Given the description of an element on the screen output the (x, y) to click on. 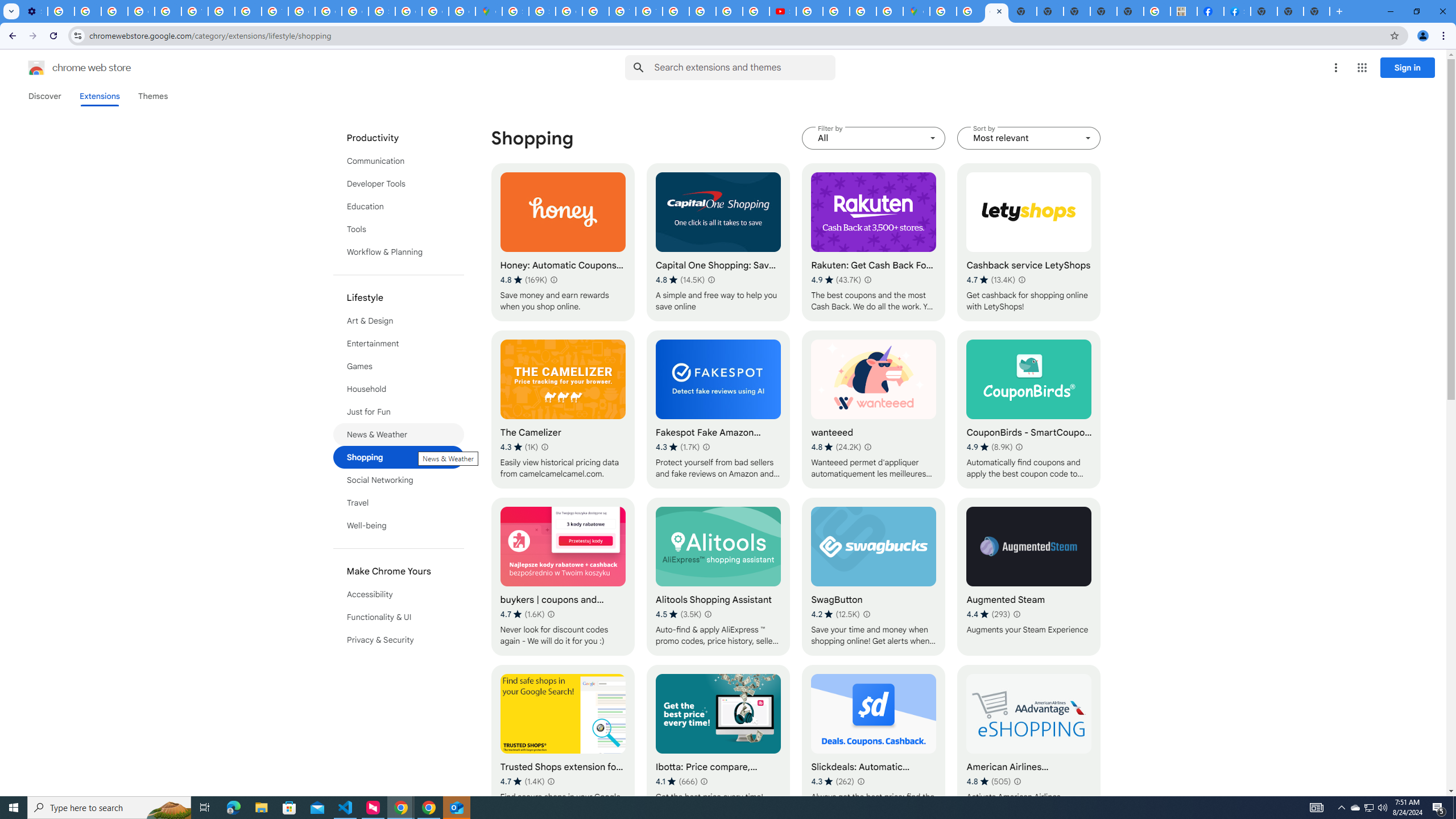
Sign in - Google Accounts (382, 11)
Extensions (99, 95)
Fakespot Fake Amazon Reviews and eBay Sellers (718, 409)
Average rating 4.3 out of 5 stars. 1.7K ratings. (677, 446)
Alitools Shopping Assistant (718, 576)
Sign Up for Facebook (1236, 11)
Well-being (398, 525)
Average rating 4.9 out of 5 stars. 8.9K ratings. (989, 446)
